Given the description of an element on the screen output the (x, y) to click on. 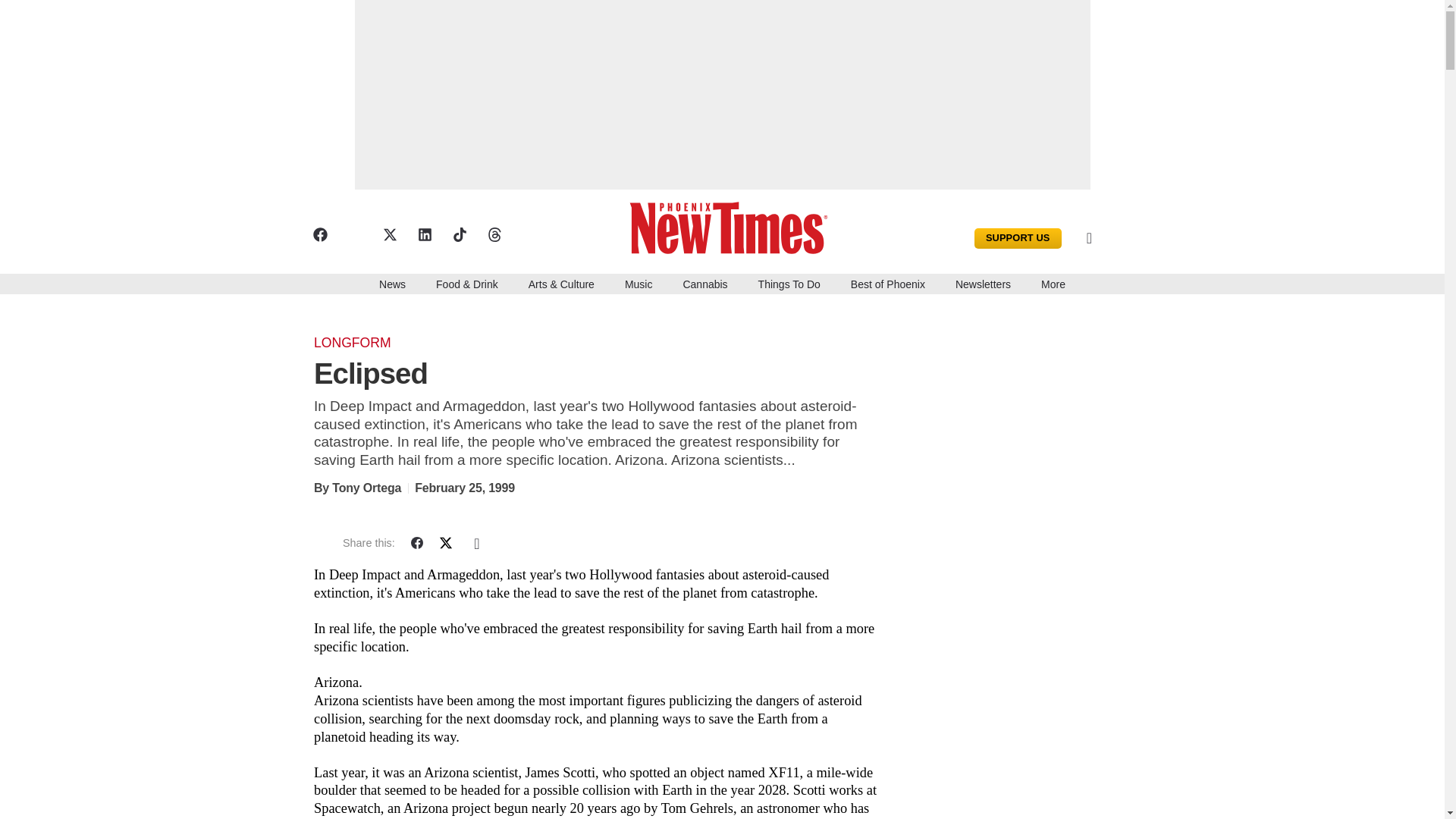
instagram (354, 234)
twitter (388, 234)
tiktok (458, 234)
threads (493, 234)
News (392, 283)
SUPPORT US (1017, 238)
Search (1113, 237)
Phoenix New Times (731, 226)
linkedin (423, 234)
facebook (319, 234)
